Given the description of an element on the screen output the (x, y) to click on. 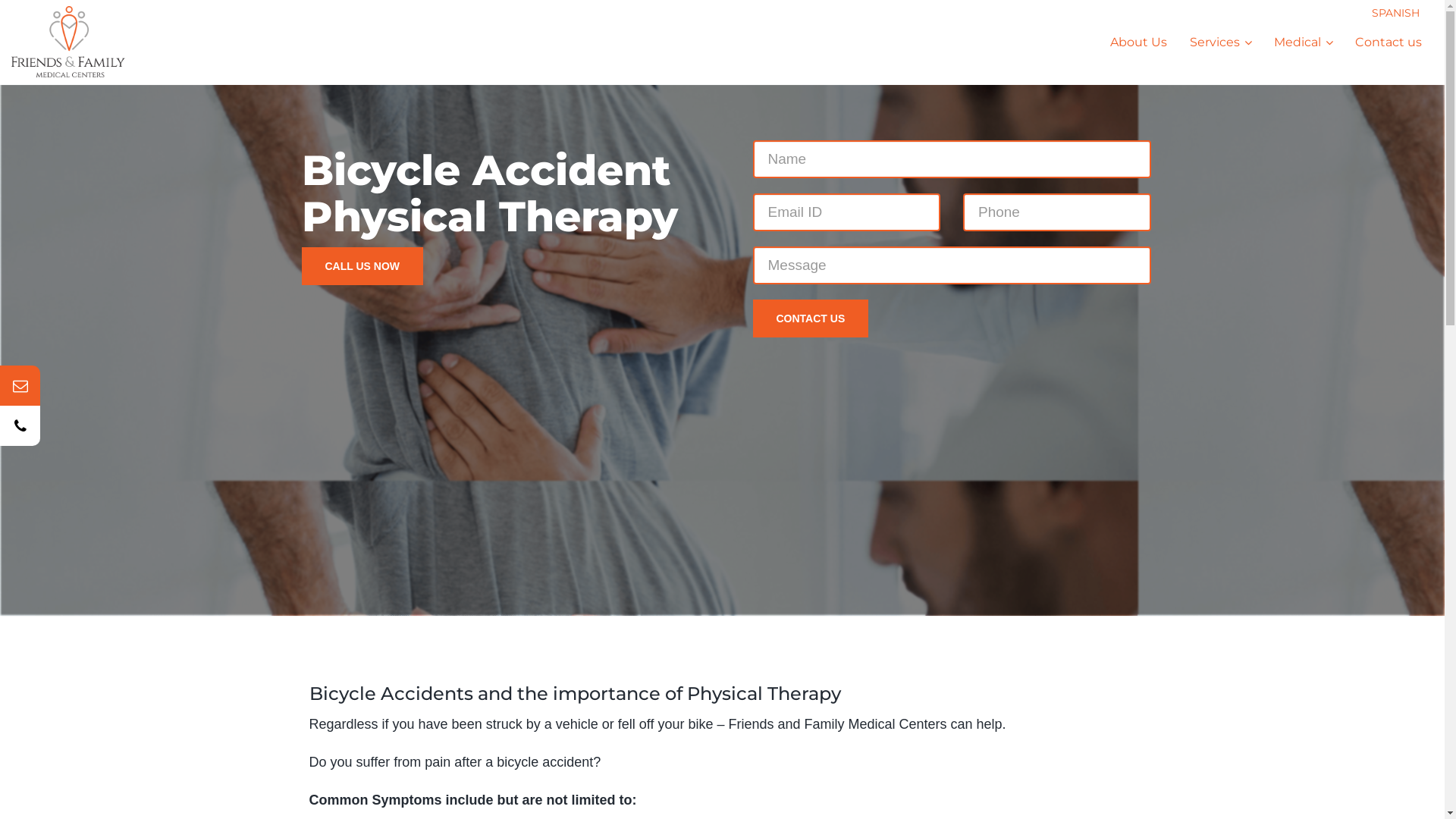
Services Element type: text (1220, 42)
About Us Element type: text (1138, 42)
CONTACT US Element type: text (810, 318)
Phone Element type: text (92, 425)
Contact us Element type: text (1388, 42)
Medical Element type: text (1302, 42)
Logo Element type: hover (78, 42)
Email Element type: text (92, 385)
SPANISH Element type: text (1395, 12)
CALL US NOW Element type: text (362, 266)
